Given the description of an element on the screen output the (x, y) to click on. 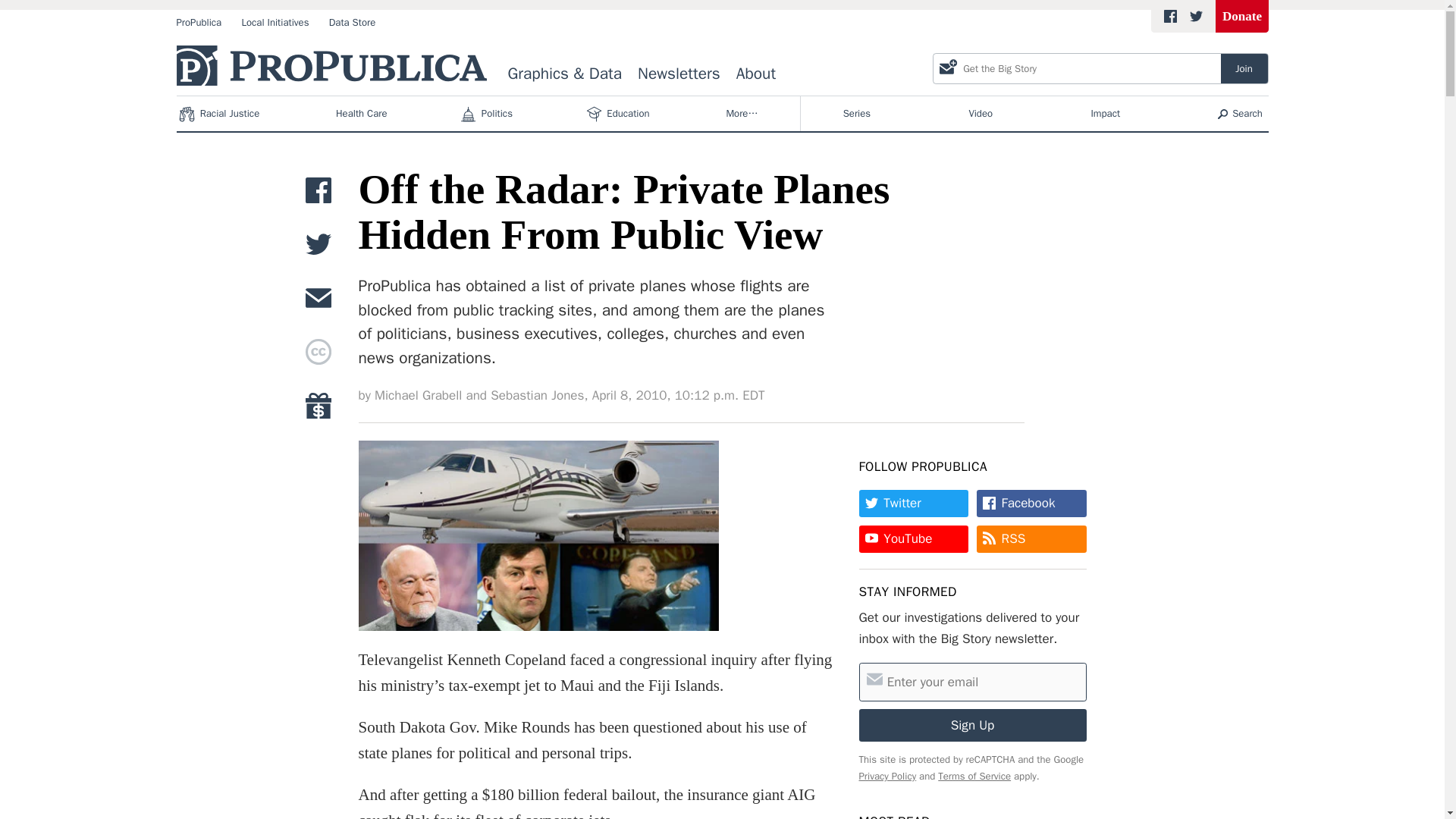
Impact (1104, 113)
Health Care (361, 113)
Join (1244, 68)
Data Store (352, 22)
Donate (1241, 16)
ProPublica (198, 22)
Local Initiatives (274, 22)
Rich Site Summary (1013, 538)
Join (1244, 68)
Politics (488, 113)
